Given the description of an element on the screen output the (x, y) to click on. 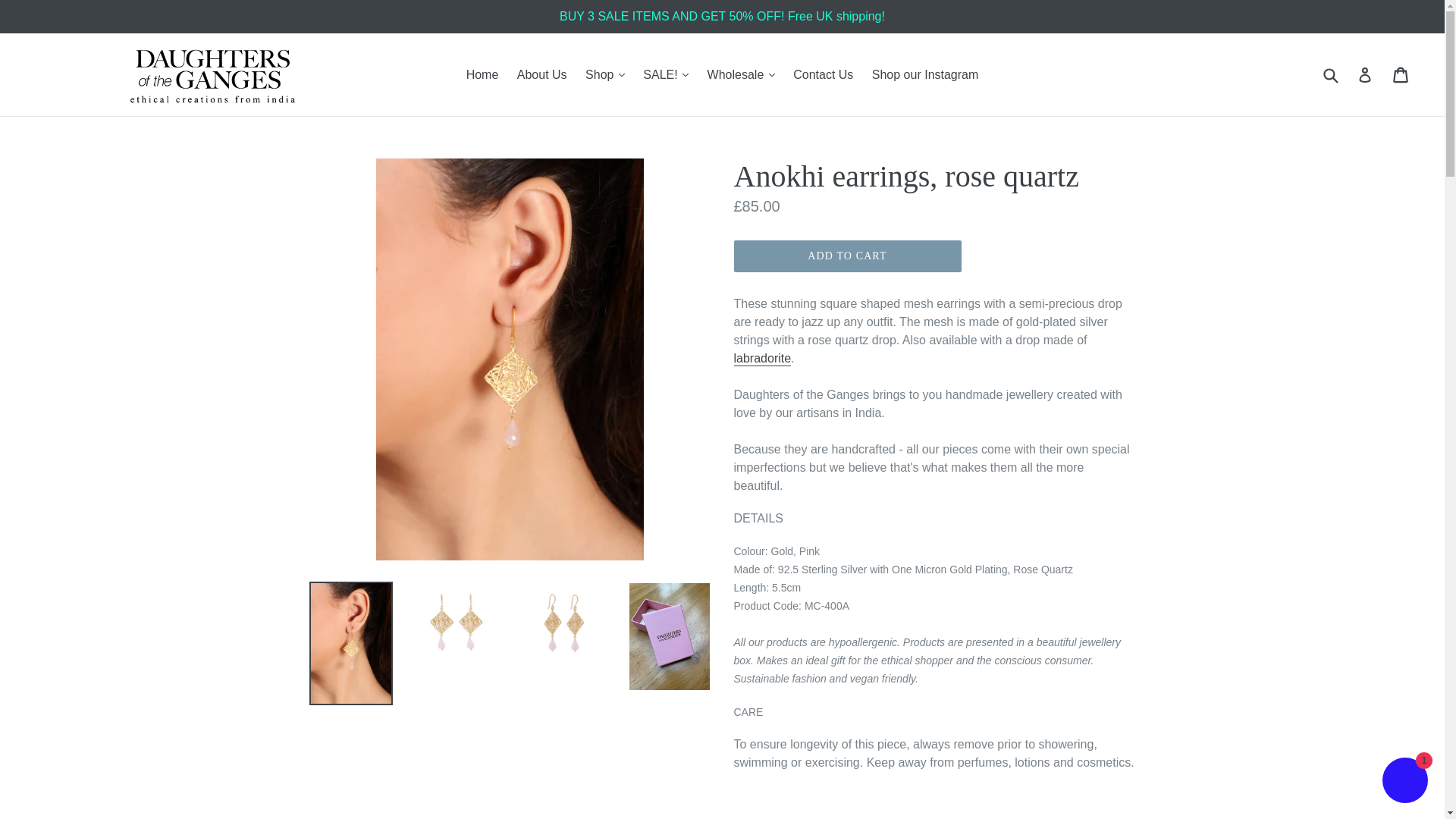
Shopify online store chat (1404, 781)
Anokhi earrings, labradorite (762, 359)
